Given the description of an element on the screen output the (x, y) to click on. 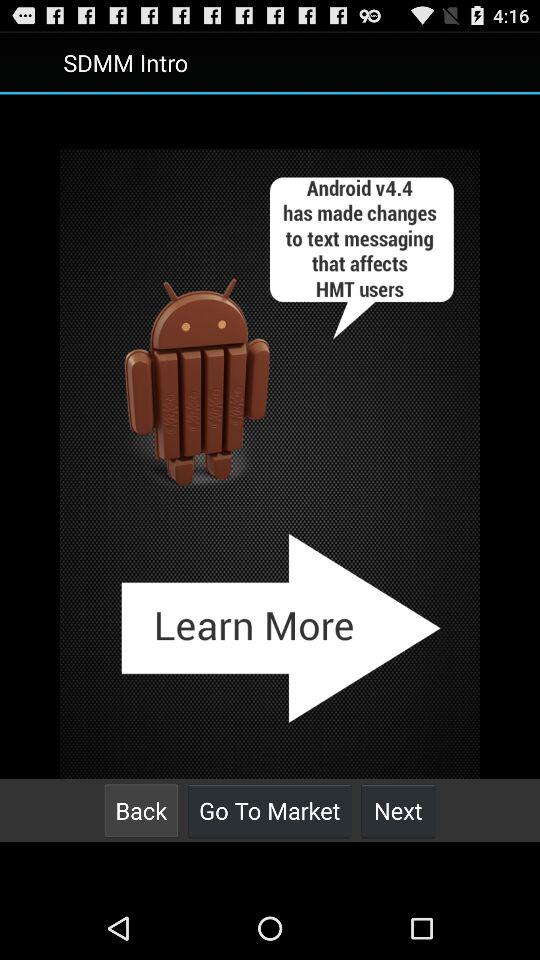
choose button next to go to market icon (141, 810)
